Given the description of an element on the screen output the (x, y) to click on. 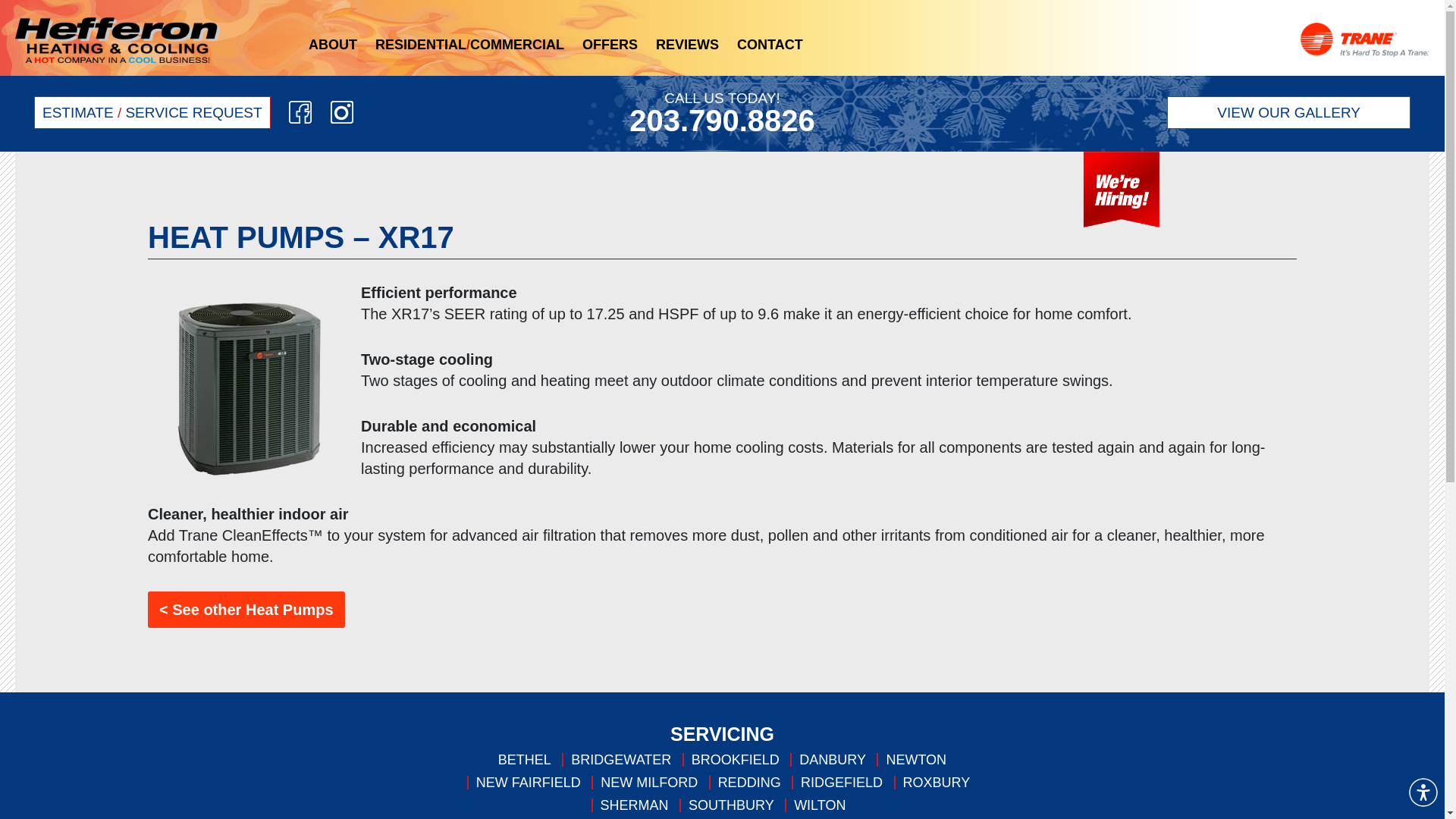
ABOUT (332, 44)
See other Heat Pumps (246, 609)
OFFERS (609, 44)
203.790.8826 (721, 120)
Accessibility Menu (1422, 792)
VIEW OUR GALLERY (1288, 112)
CONTACT (769, 44)
REVIEWS (687, 44)
